Given the description of an element on the screen output the (x, y) to click on. 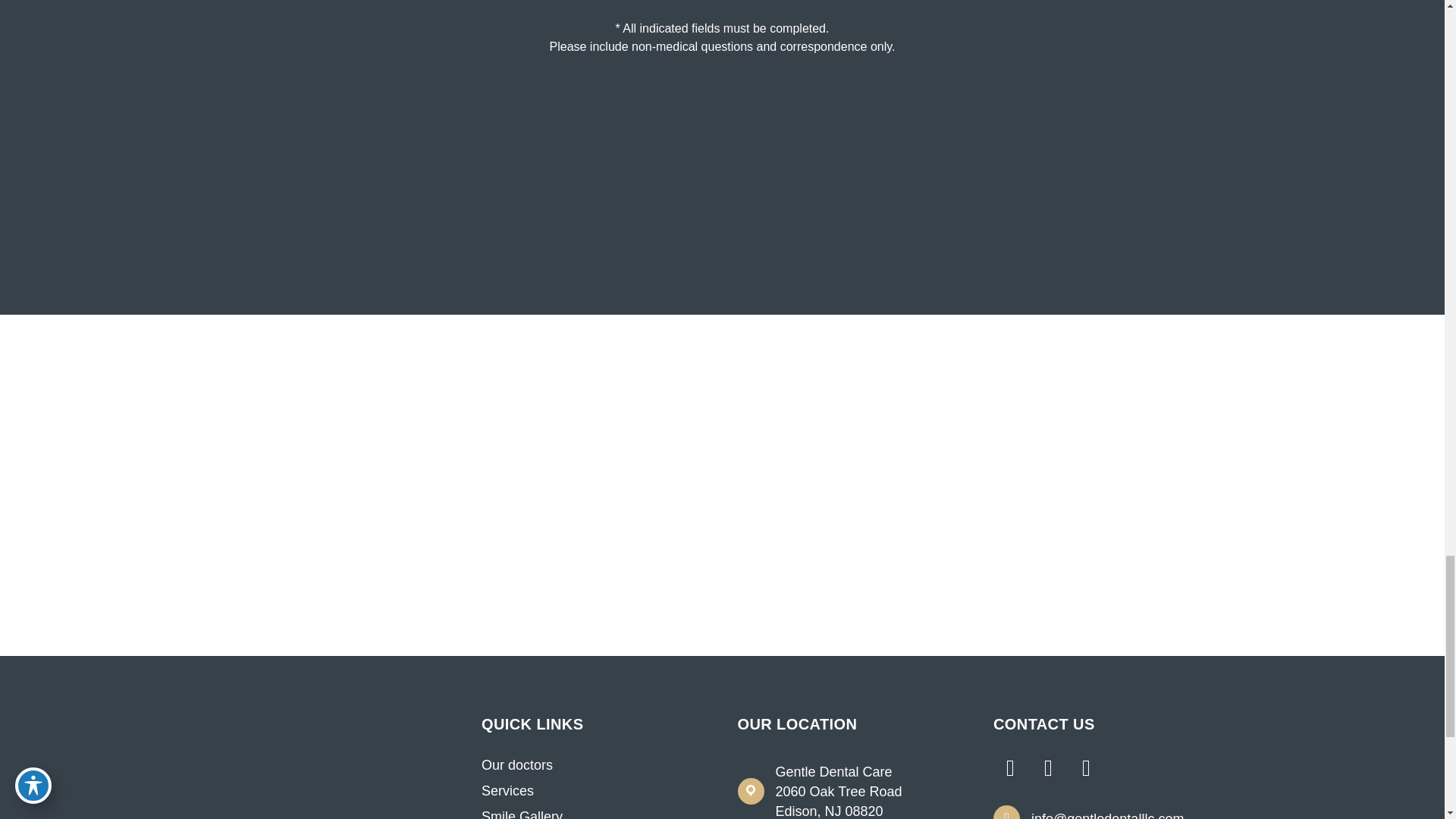
7cQKt EI (338, 734)
